Given the description of an element on the screen output the (x, y) to click on. 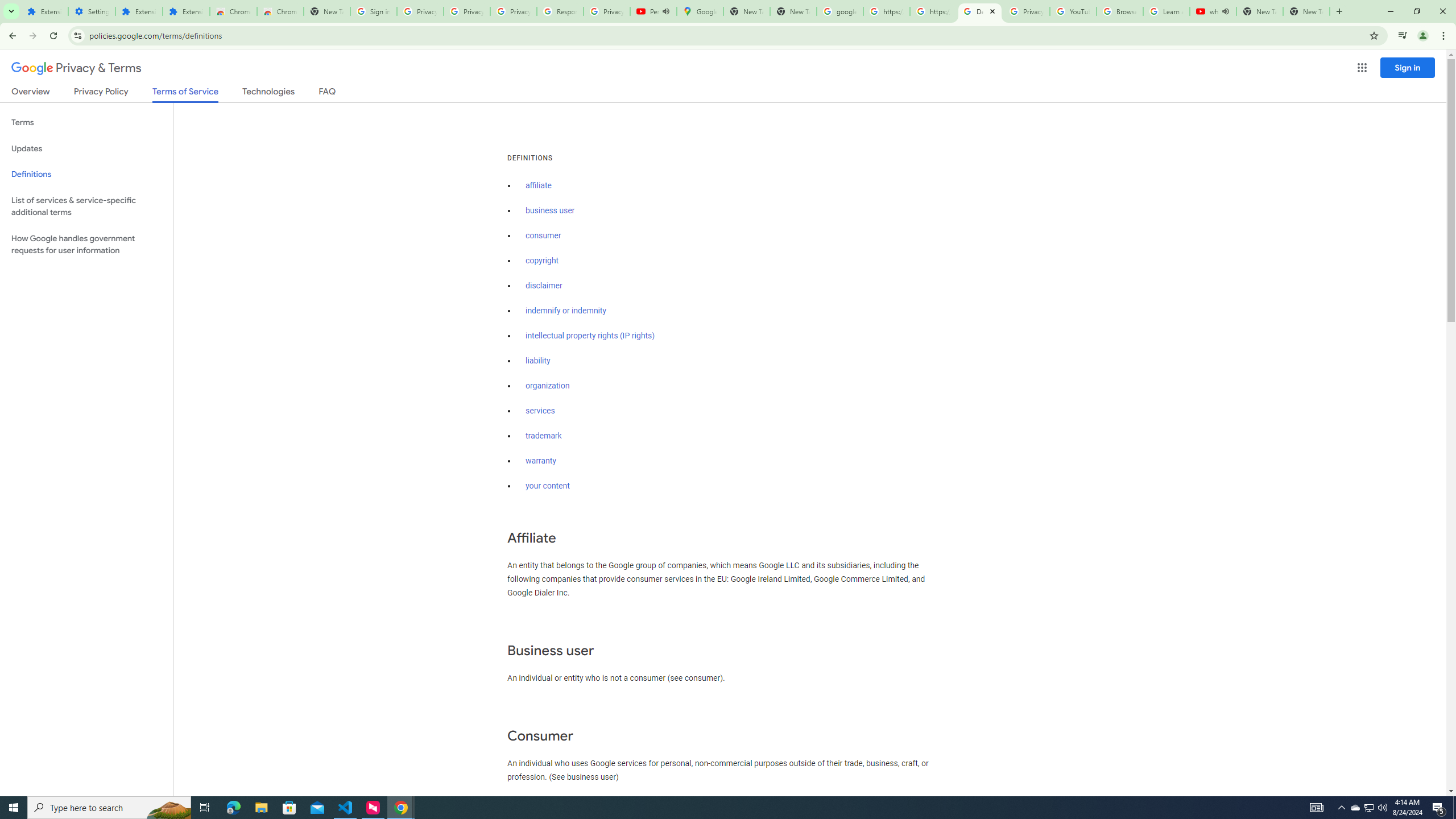
How Google handles government requests for user information (86, 244)
business user (550, 210)
disclaimer (543, 285)
Google Maps (699, 11)
Mute tab (1225, 10)
organization (547, 385)
